Given the description of an element on the screen output the (x, y) to click on. 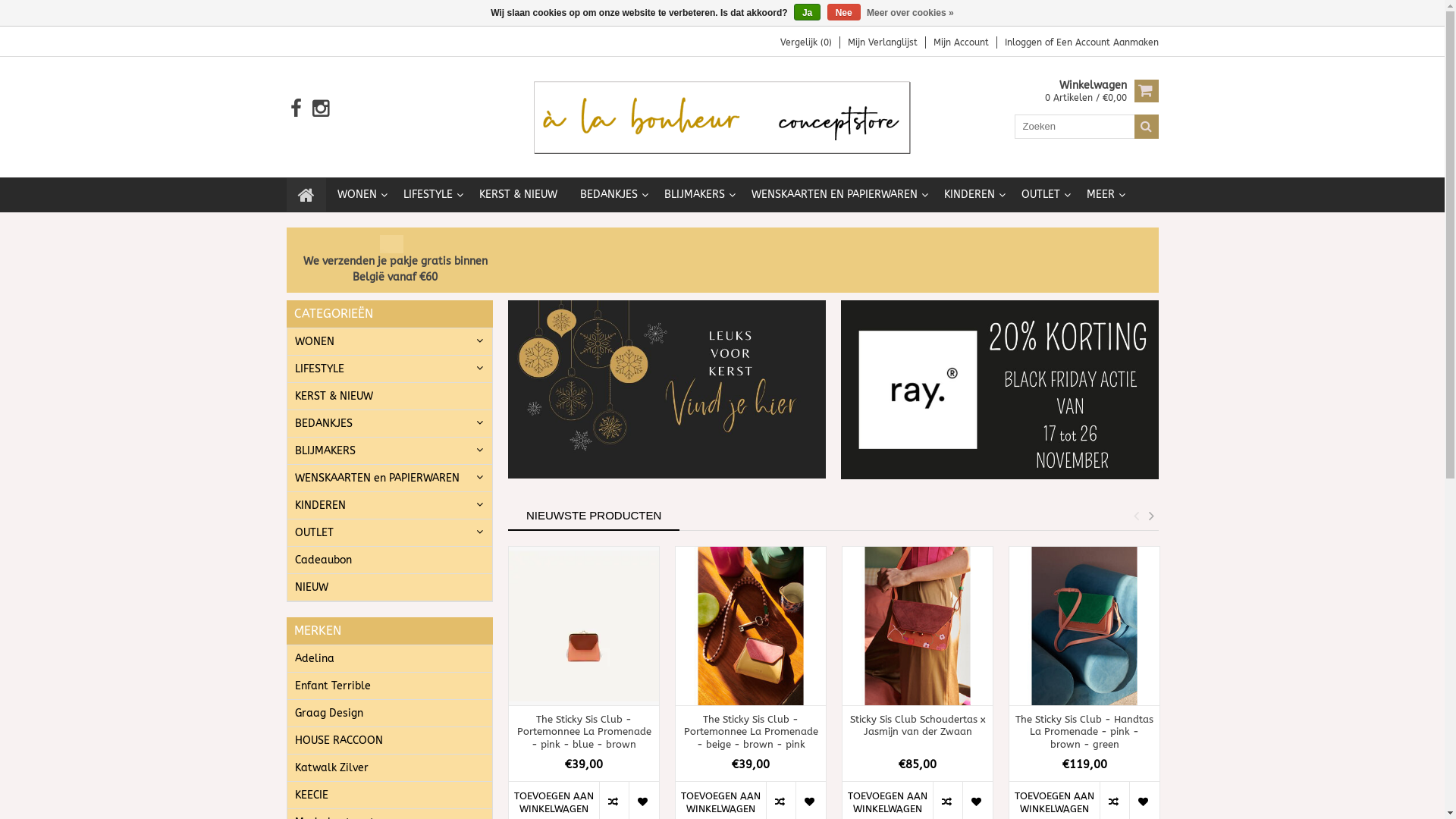
OUTLET Element type: text (389, 532)
Enfant Terrible Element type: text (389, 685)
Inloggen Element type: text (1024, 42)
NEXT Element type: text (1151, 515)
KERST & NIEUW Element type: text (389, 396)
MEER Element type: text (1102, 194)
Vergelijk (0) Element type: text (805, 42)
PREVIOUS Element type: text (1136, 515)
NIEUW Element type: text (389, 587)
Katwalk Zilver Element type: text (389, 767)
WENSKAARTEN en PAPIERWAREN Element type: text (389, 478)
BEDANKJES Element type: text (389, 423)
KEECIE Element type: text (389, 795)
Nee Element type: text (843, 11)
Cadeaubon Element type: text (389, 560)
Graag Design Element type: text (389, 713)
BLIJMAKERS Element type: text (389, 450)
BLIJMAKERS Element type: text (695, 194)
KERST & NIEUW Element type: text (517, 194)
Home Element type: hover (306, 194)
LIFESTYLE Element type: text (389, 368)
Ja Element type: text (806, 11)
KINDEREN Element type: text (971, 194)
KINDEREN Element type: text (389, 505)
HOUSE RACCOON Element type: text (389, 740)
Mijn Verlanglijst Element type: text (882, 42)
Sticky Sis Club Schoudertas x Jasmijn van der Zwaan Element type: text (917, 732)
LIFESTYLE Element type: text (429, 194)
Een Account Aanmaken Element type: text (1106, 42)
WONEN Element type: text (389, 341)
Adelina Element type: text (389, 658)
Zoeken Element type: hover (1146, 126)
Mijn Account Element type: text (960, 42)
OUTLET Element type: text (1042, 194)
WONEN Element type: text (359, 194)
BEDANKJES Element type: text (610, 194)
WENSKAARTEN EN PAPIERWAREN Element type: text (836, 194)
